Given the description of an element on the screen output the (x, y) to click on. 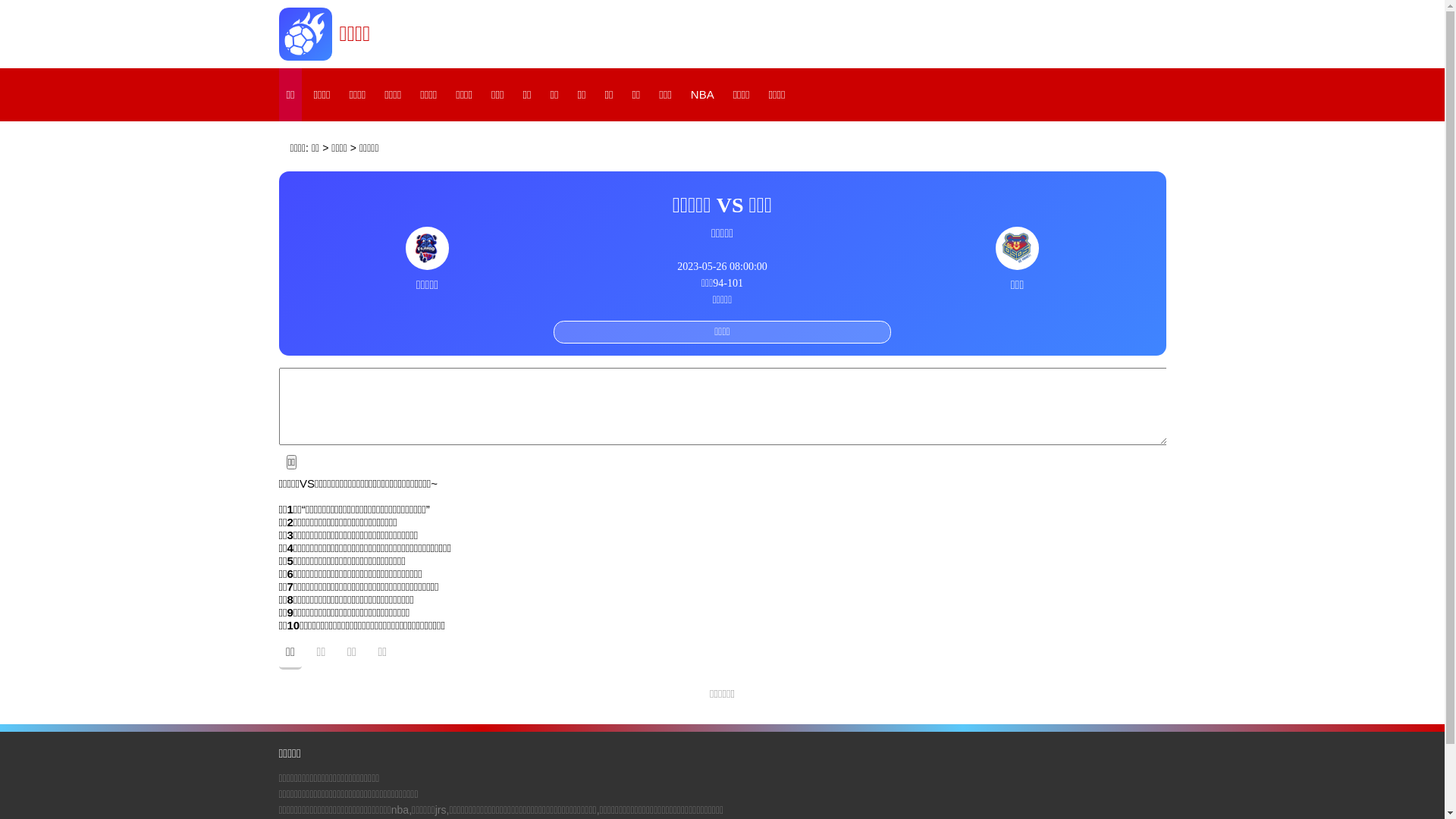
NBA Element type: text (702, 94)
